Given the description of an element on the screen output the (x, y) to click on. 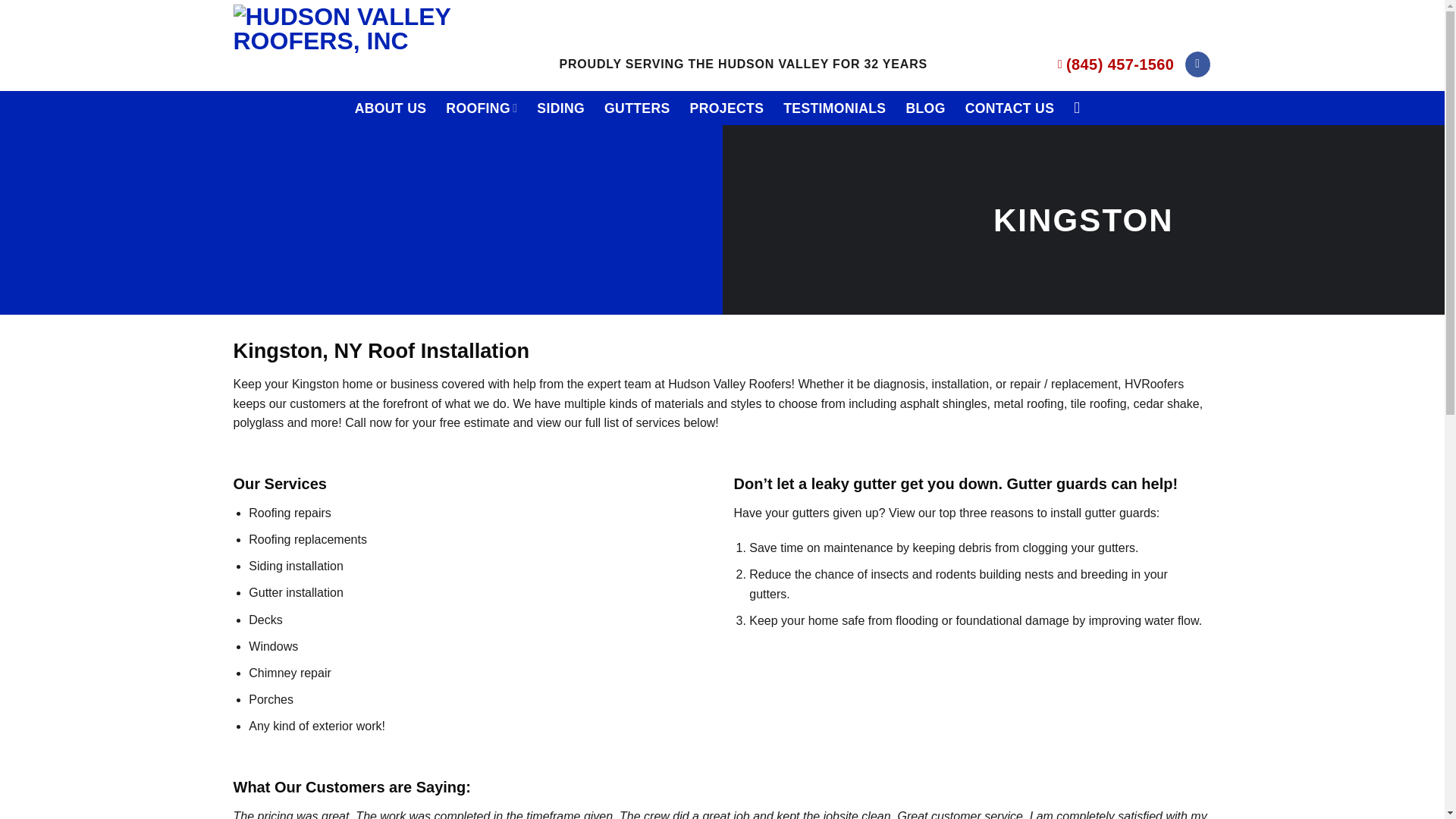
TESTIMONIALS (834, 108)
SIDING (561, 108)
BLOG (924, 108)
ABOUT US (390, 108)
Follow on Facebook (1197, 63)
PROJECTS (727, 108)
CONTACT US (1009, 108)
ROOFING (480, 107)
GUTTERS (636, 108)
